Given the description of an element on the screen output the (x, y) to click on. 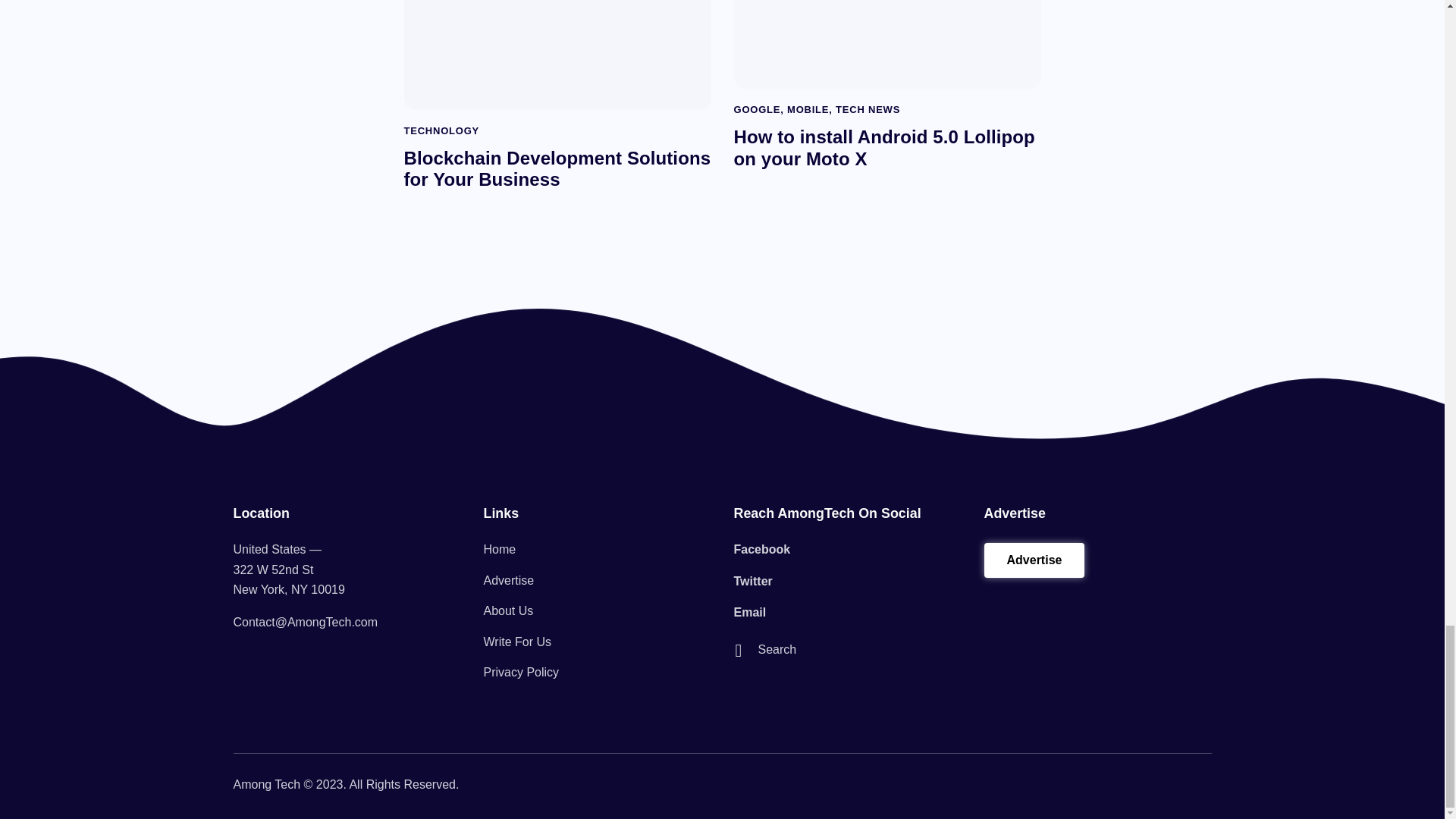
How to install Android 5.0 Lollipop on your Moto X - 3 (885, 43)
Blockchain Development Solutions for Your Business - 2 (555, 54)
